Given the description of an element on the screen output the (x, y) to click on. 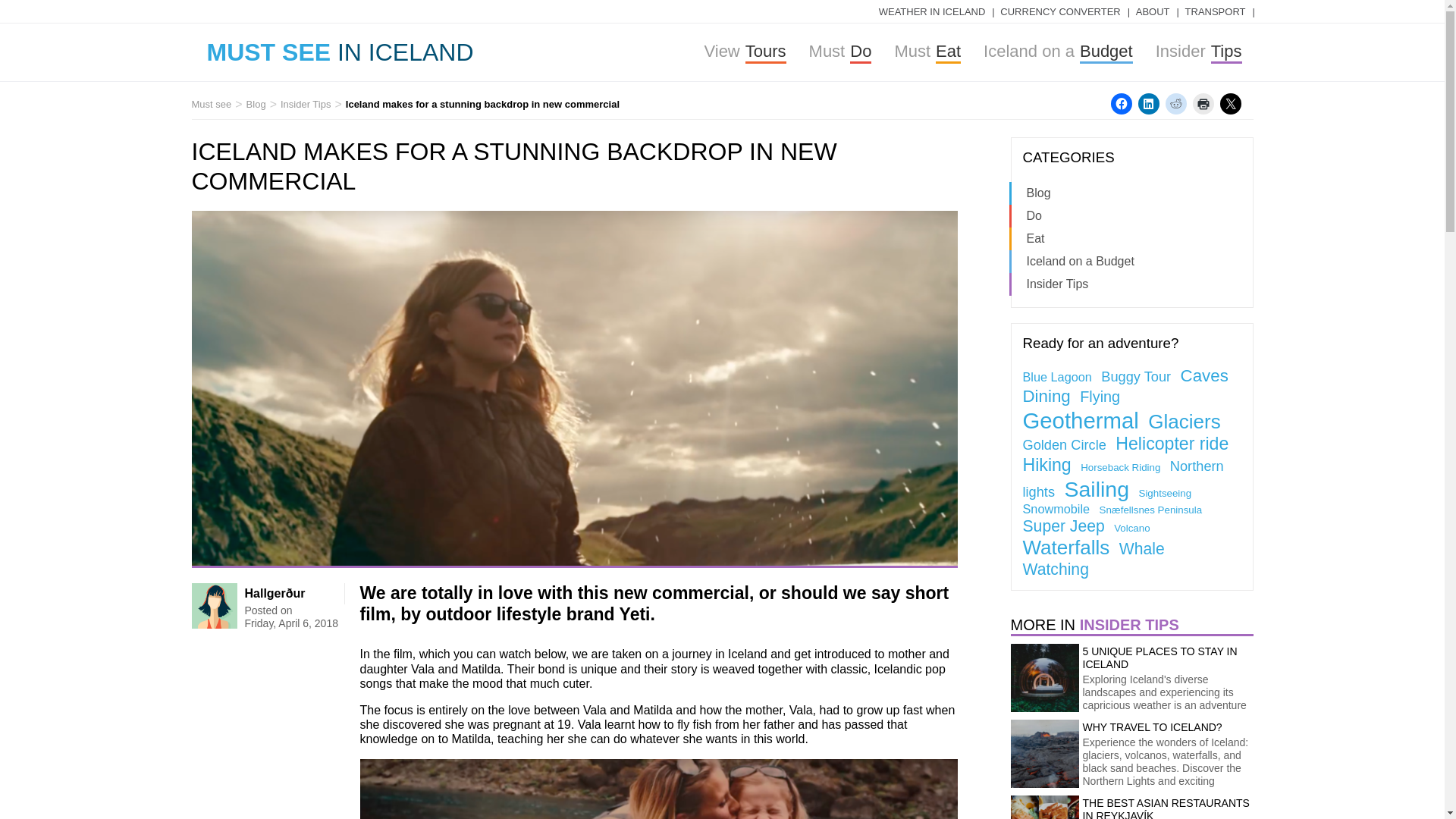
WEATHER IN ICELAND (931, 11)
MUST SEE IN ICELAND (1198, 52)
Iceland makes for a stunning backdrop in new commercial (926, 52)
Flying (339, 52)
Blog (483, 103)
Click to print (1099, 396)
Insider Tips (256, 103)
Geothermal (1202, 103)
Click to share on X (305, 103)
Click to share on Facebook (1080, 420)
Golden Circle (1058, 52)
Glaciers (1230, 103)
